Given the description of an element on the screen output the (x, y) to click on. 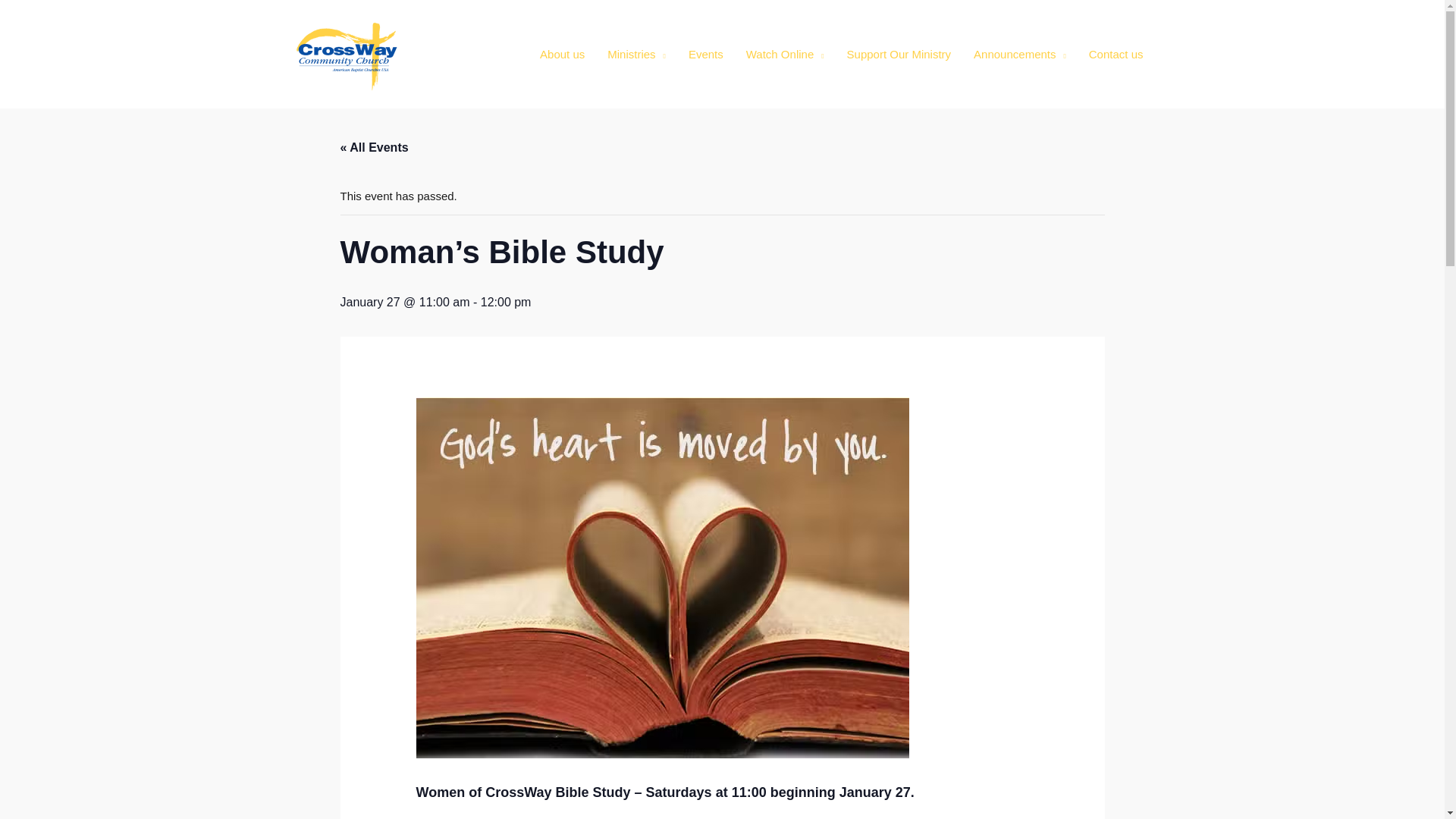
Events (706, 53)
Support Our Ministry (898, 53)
Contact us (1115, 53)
About us (561, 53)
Ministries (636, 53)
Announcements (1019, 53)
Watch Online (785, 53)
